Given the description of an element on the screen output the (x, y) to click on. 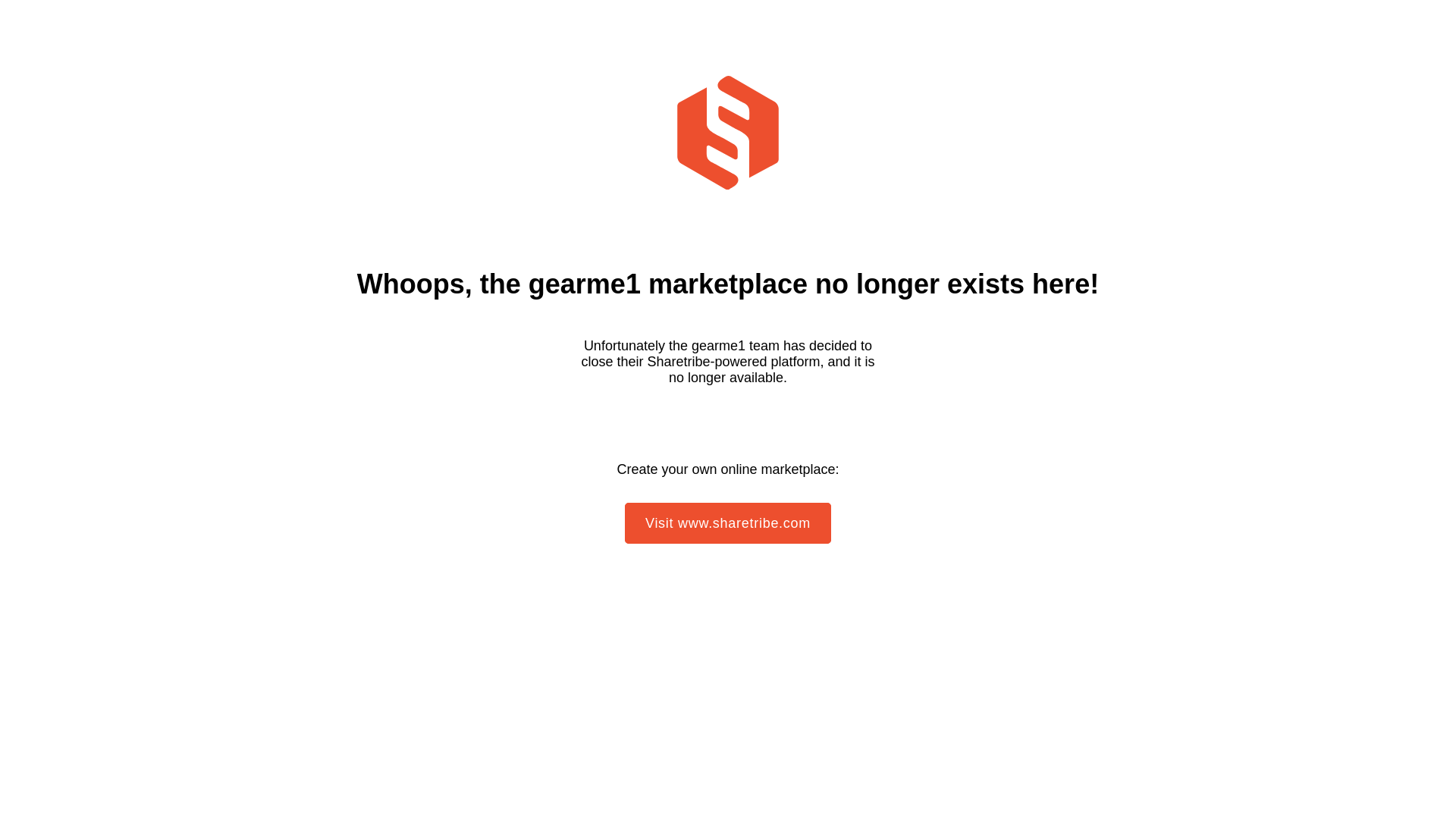
Visit www.sharetribe.com Element type: text (727, 522)
